Given the description of an element on the screen output the (x, y) to click on. 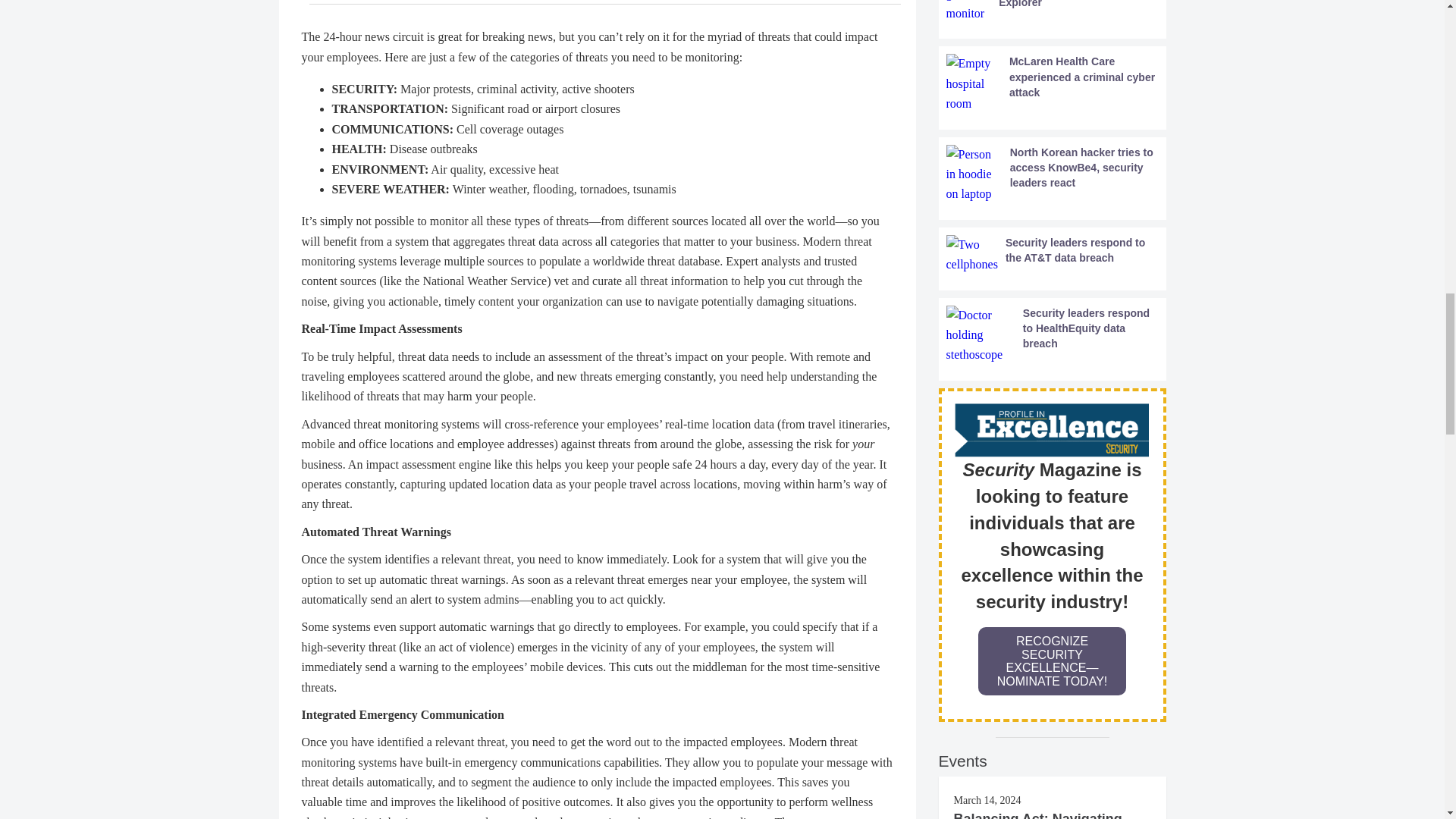
Security leaders respond to HealthEquity data breach (1052, 335)
McLaren Health Care experienced a criminal cyber attack (1052, 83)
